Given the description of an element on the screen output the (x, y) to click on. 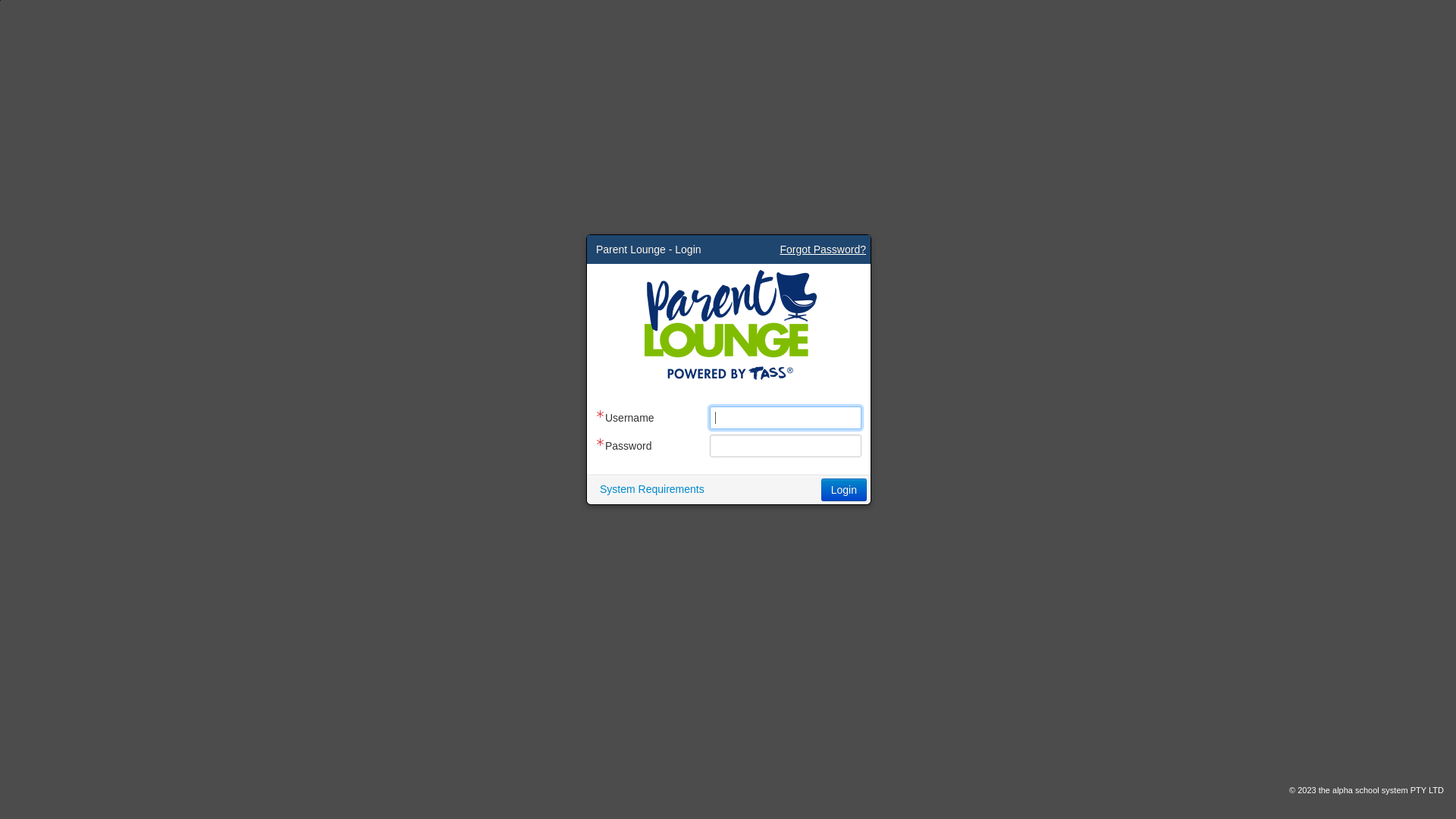
Login Element type: text (843, 488)
focus Element type: text (0, 0)
System Requirements Element type: text (651, 487)
Forgot Password? Element type: text (822, 249)
